Given the description of an element on the screen output the (x, y) to click on. 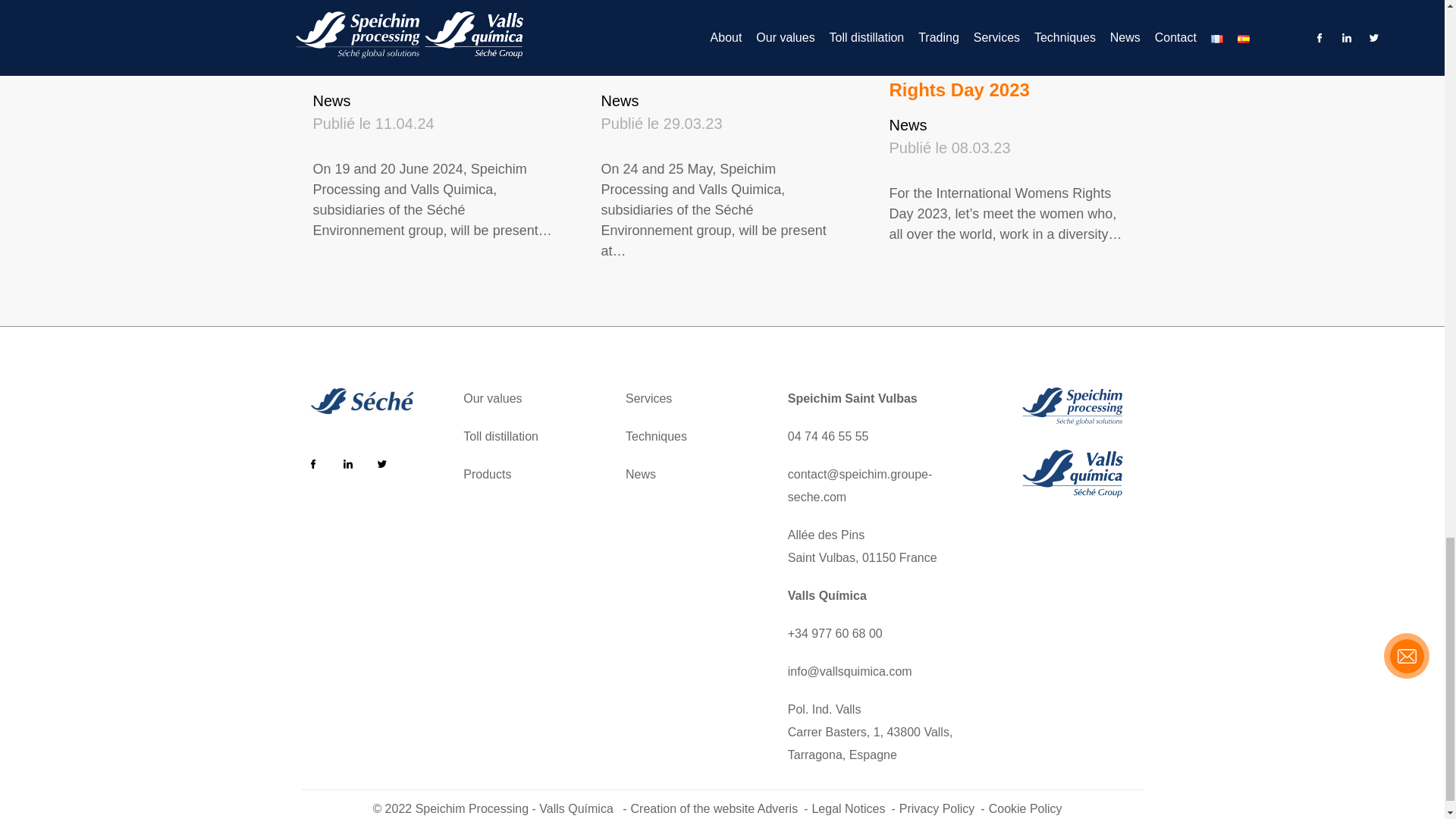
Cookie Policy (1028, 808)
Services (648, 398)
Creation of the website Adveris (719, 808)
News (641, 474)
Legal Notices (852, 808)
Techniques (656, 436)
Products (487, 474)
Toll distillation (500, 436)
Privacy Policy (942, 808)
Our values (492, 398)
